Given the description of an element on the screen output the (x, y) to click on. 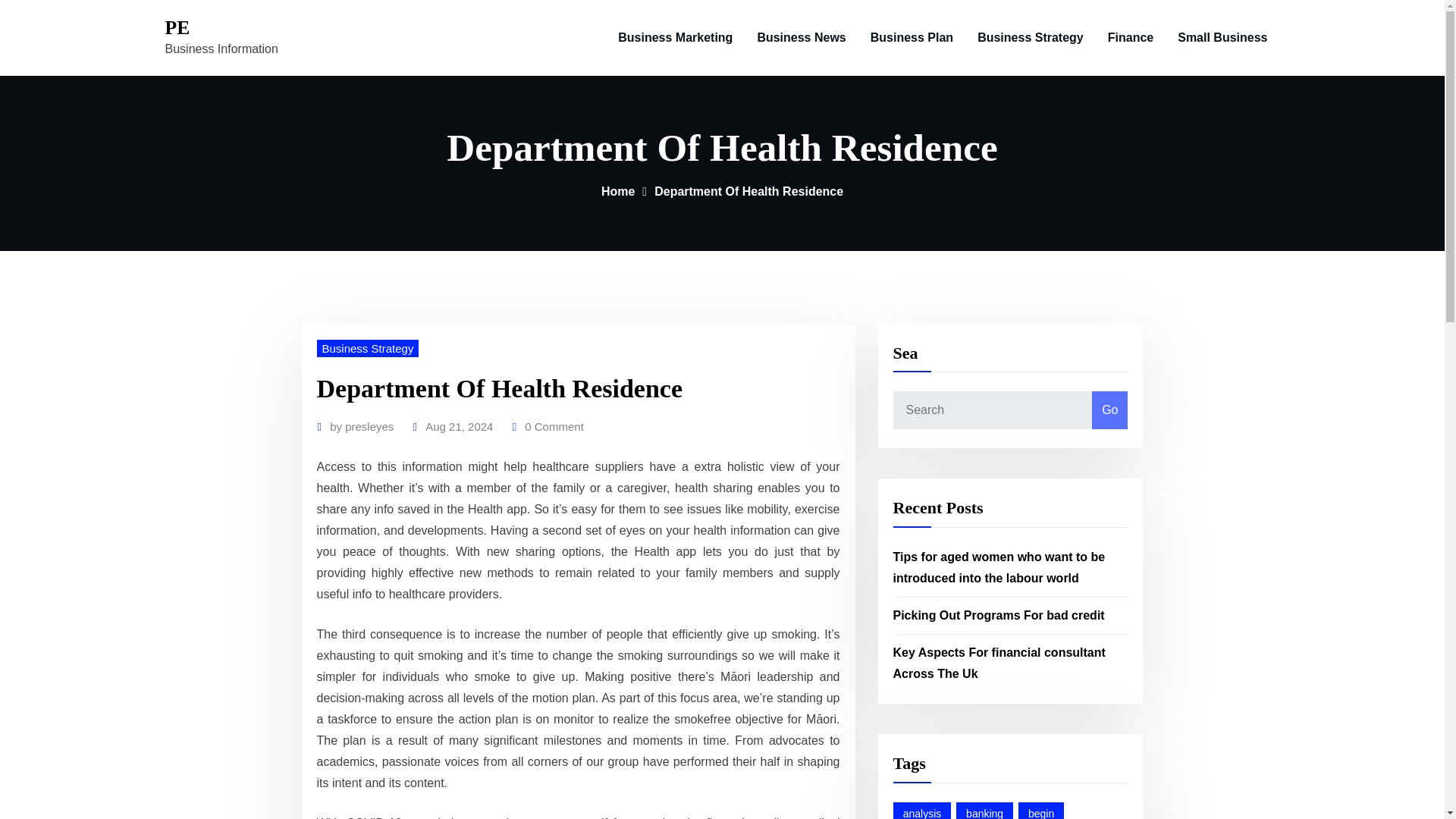
Business Strategy (368, 348)
Business News (800, 38)
Department Of Health Residence (748, 191)
Business Plan (912, 38)
Small Business (1222, 38)
analysis (922, 810)
Finance (1131, 38)
Go (1109, 410)
Business Marketing (674, 38)
banking (984, 810)
